Given the description of an element on the screen output the (x, y) to click on. 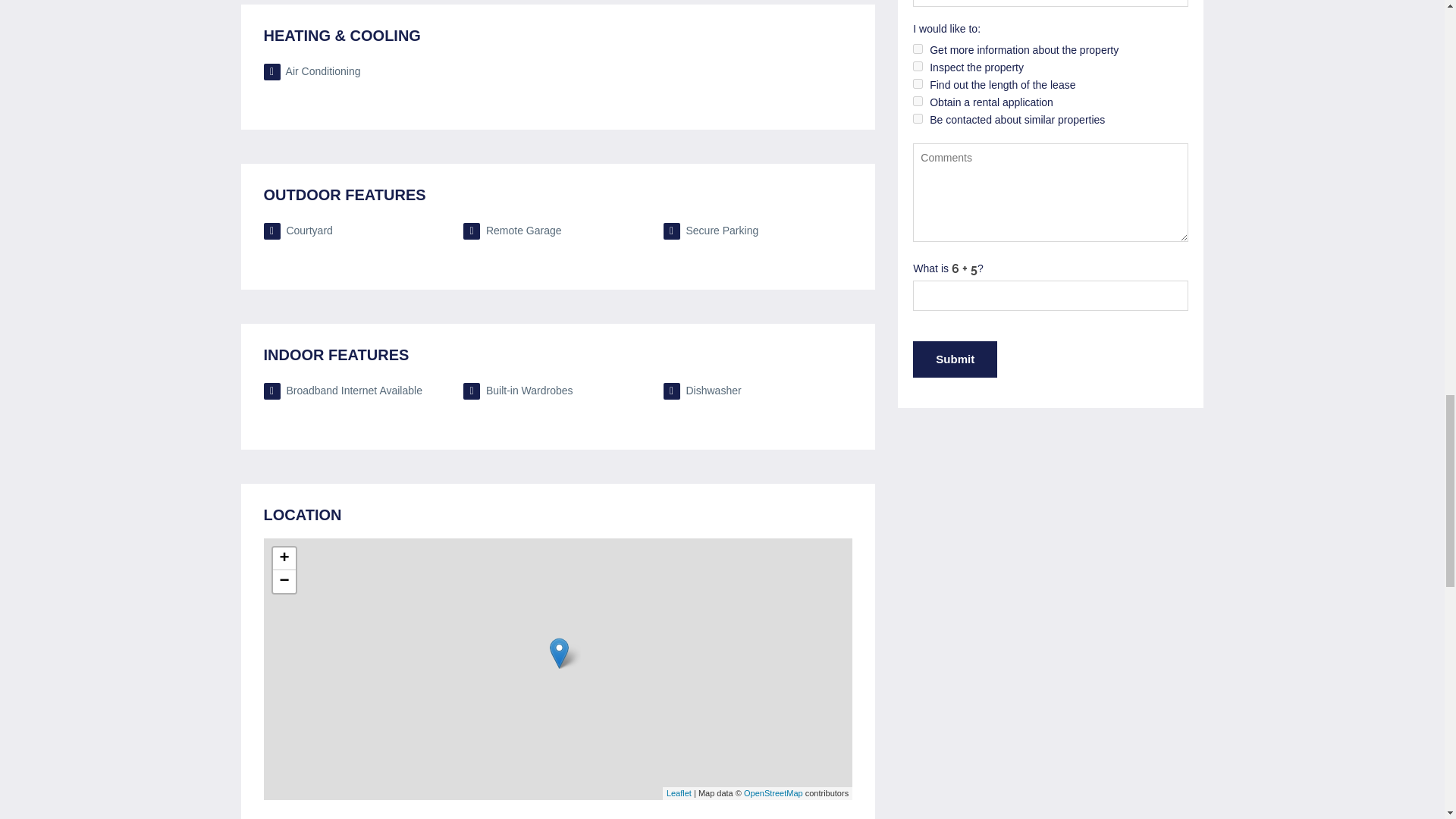
on (917, 118)
on (917, 49)
on (917, 101)
on (917, 66)
on (917, 83)
Submit (954, 358)
A JS library for interactive maps (678, 792)
Zoom out (284, 581)
Zoom in (284, 558)
